Given the description of an element on the screen output the (x, y) to click on. 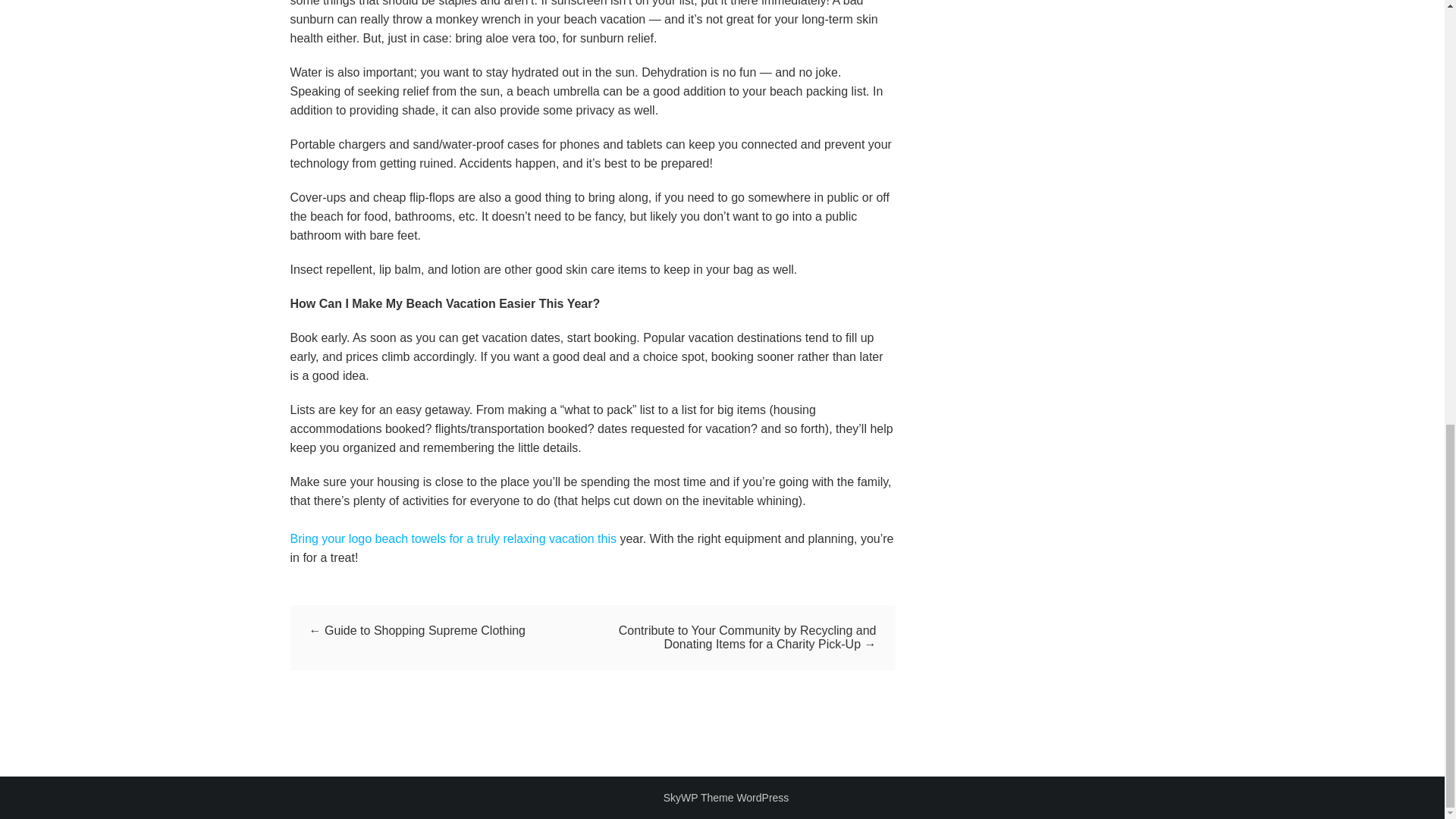
SkyWP Theme WordPress (726, 797)
